Given the description of an element on the screen output the (x, y) to click on. 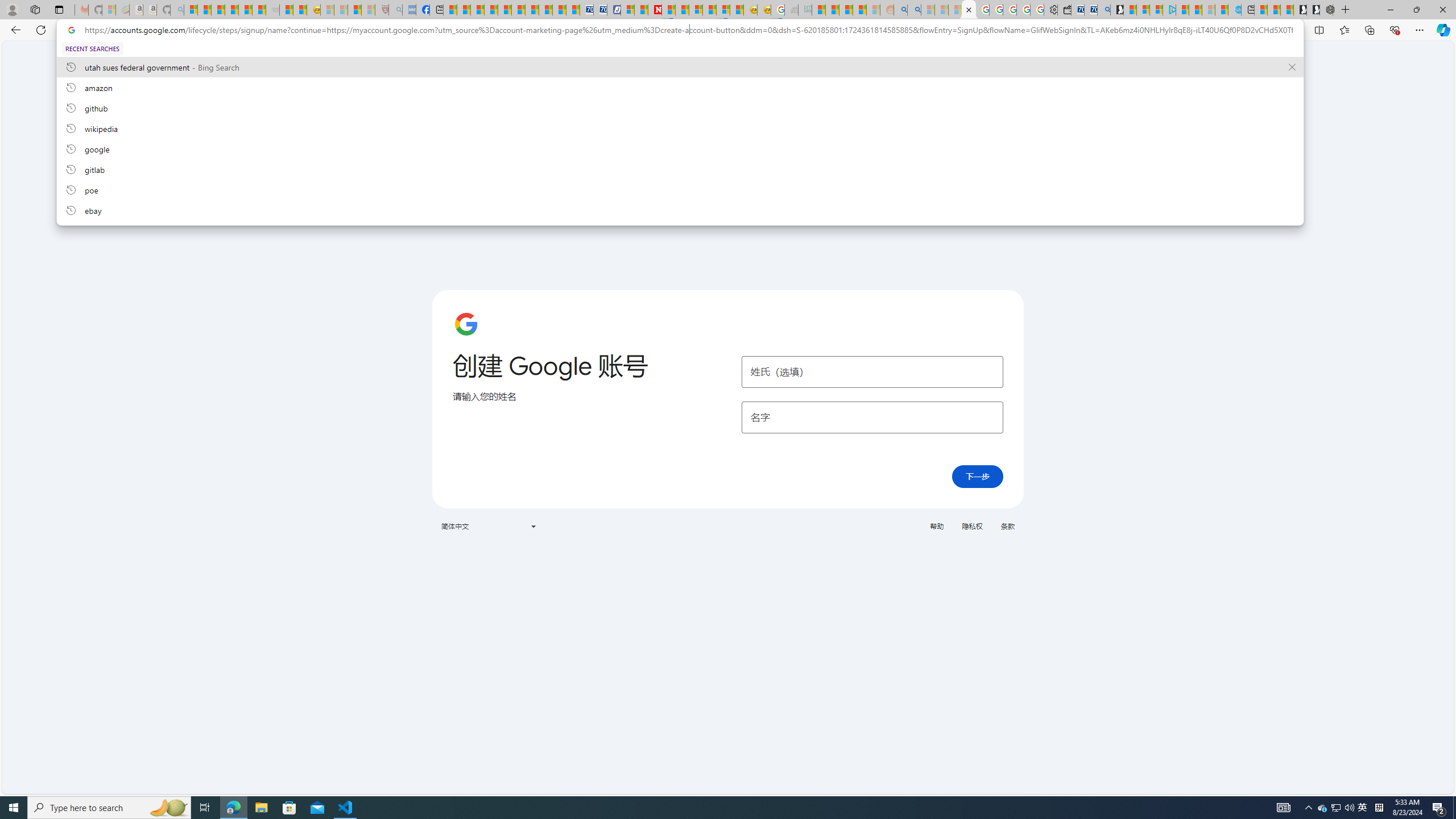
Science - MSN (354, 9)
Stocks - MSN (258, 9)
Microsoft-Report a Concern to Bing - Sleeping (108, 9)
